Given the description of an element on the screen output the (x, y) to click on. 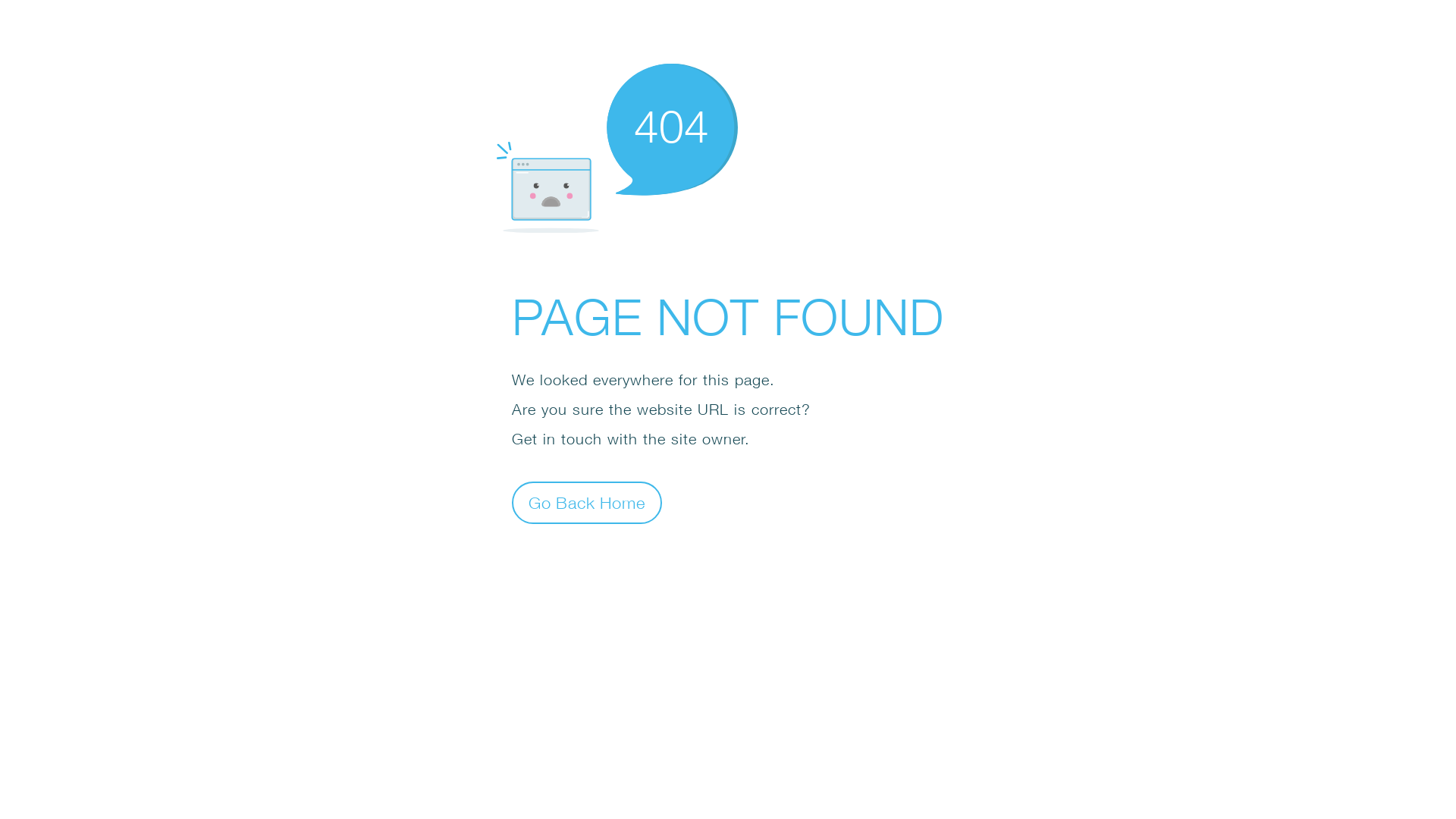
Go Back Home Element type: text (586, 502)
